Given the description of an element on the screen output the (x, y) to click on. 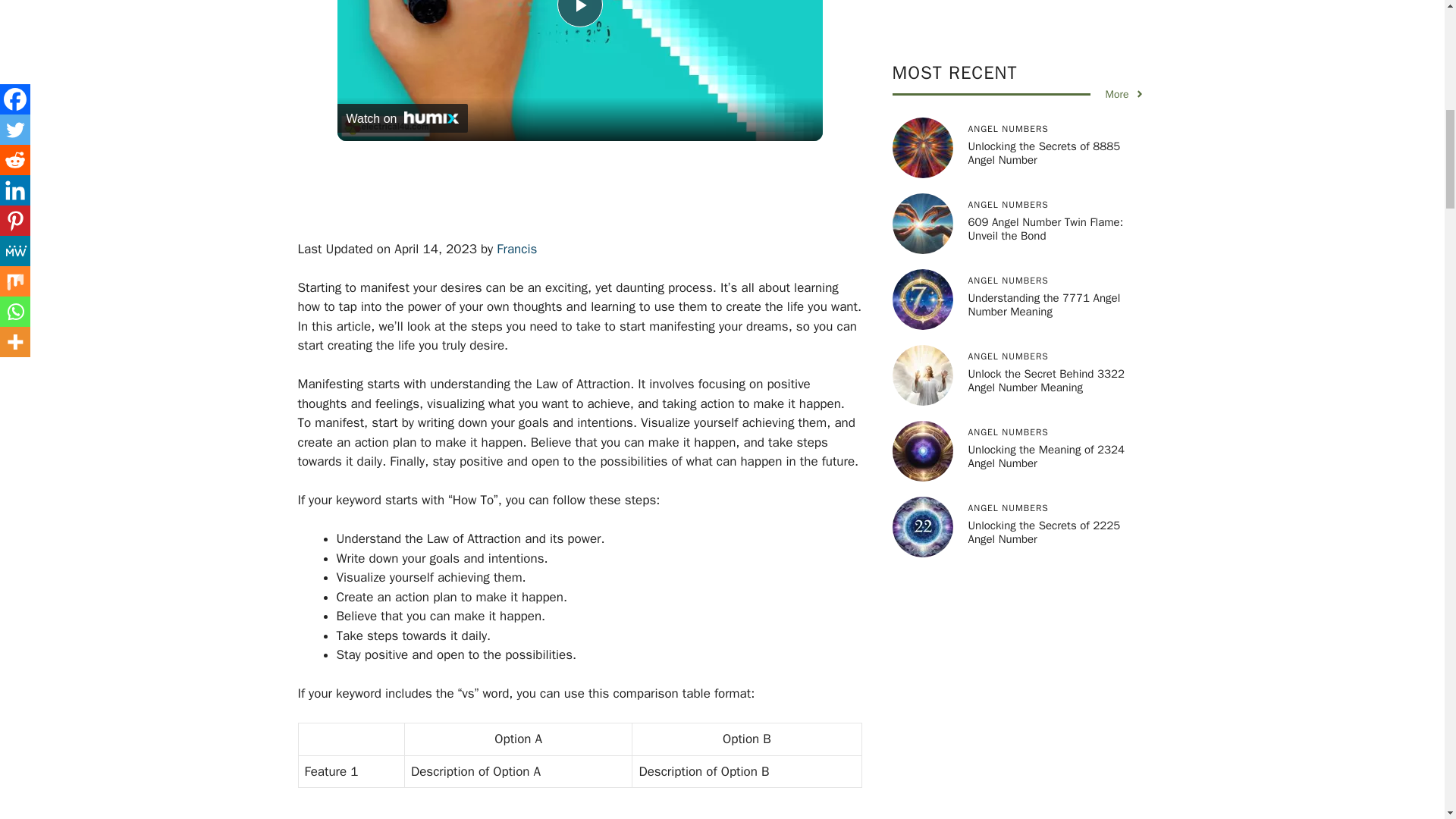
Watch on (401, 117)
Play Video (579, 13)
Francis (516, 248)
Play Video (579, 13)
